Given the description of an element on the screen output the (x, y) to click on. 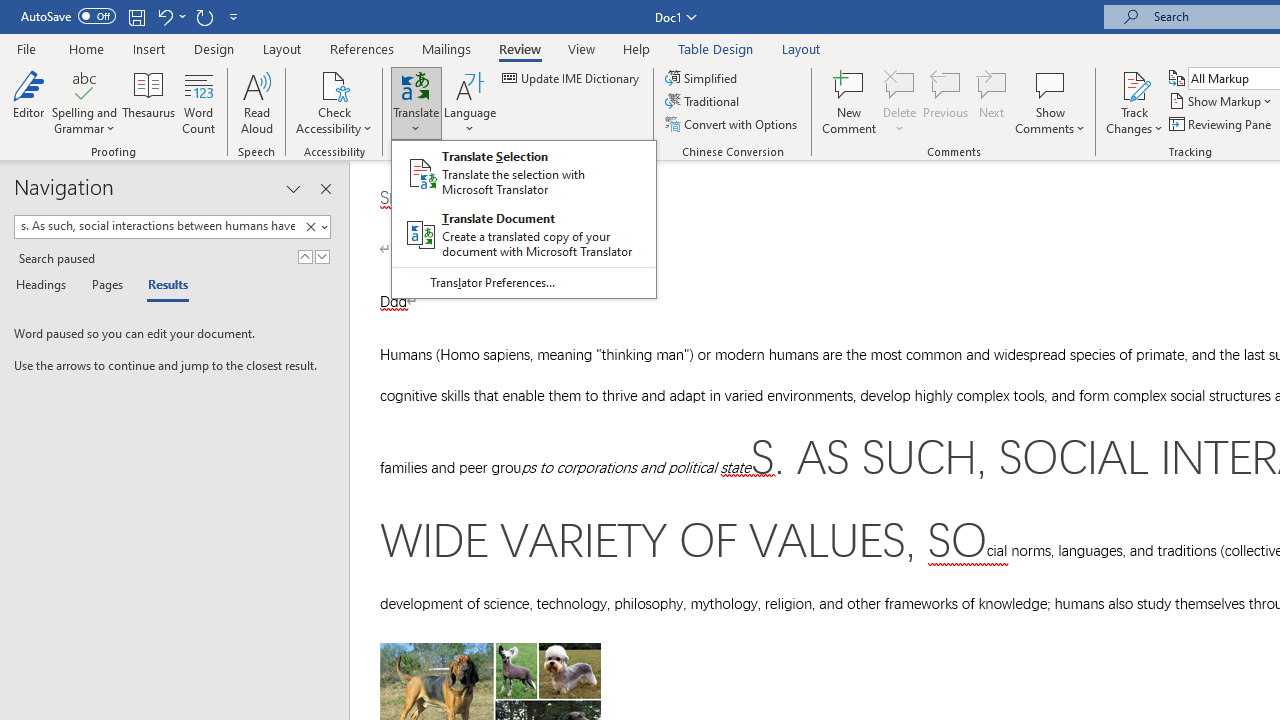
Check Accessibility (334, 84)
Convert with Options... (732, 124)
Update IME Dictionary... (572, 78)
Table Design (715, 48)
Spelling and Grammar (84, 84)
Repeat Style (204, 15)
Show Comments (1050, 102)
Track Changes (1134, 102)
